Given the description of an element on the screen output the (x, y) to click on. 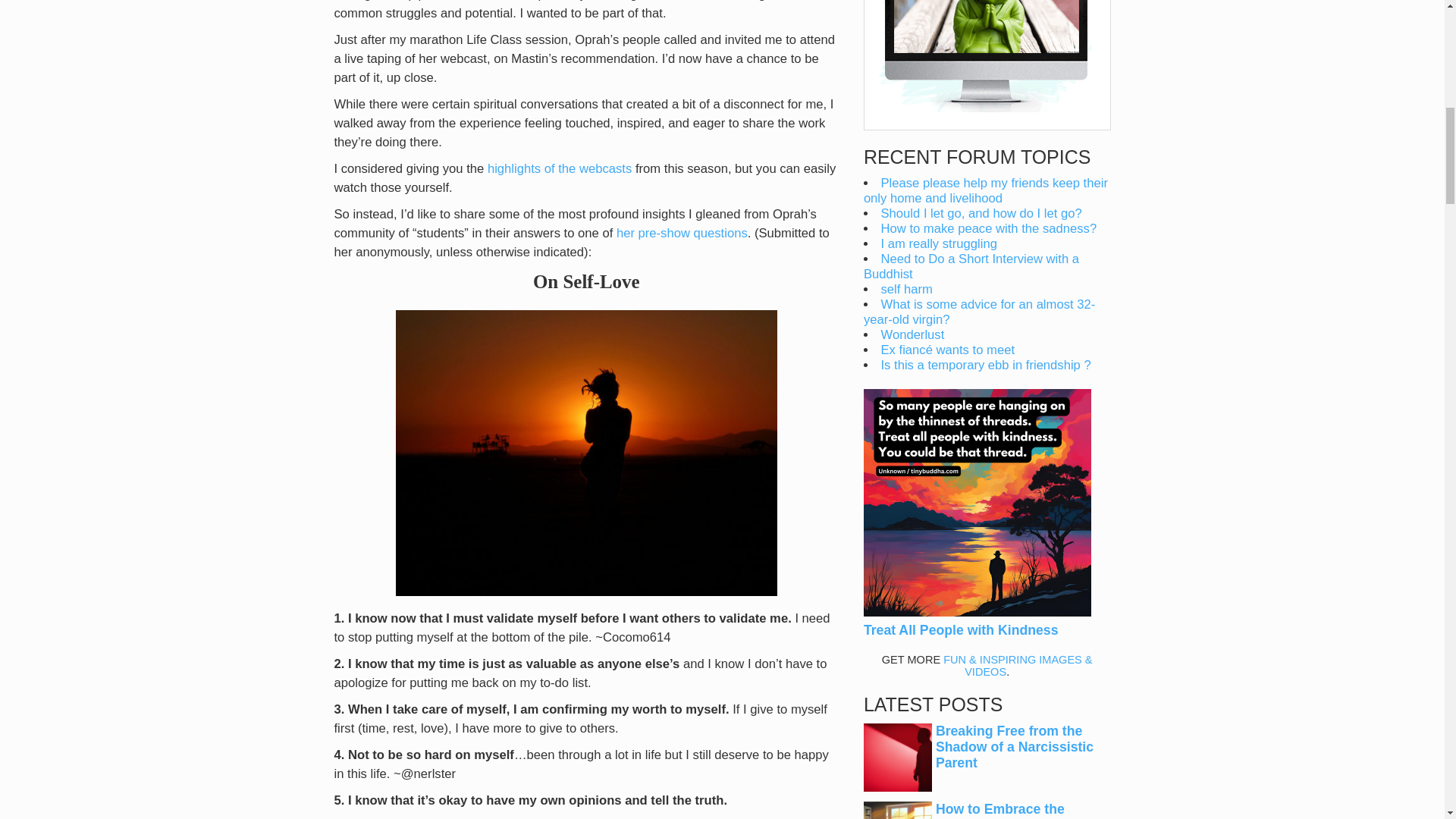
woman at sunrise (586, 453)
her pre-show questions (681, 233)
highlights of the webcasts (559, 168)
